Given the description of an element on the screen output the (x, y) to click on. 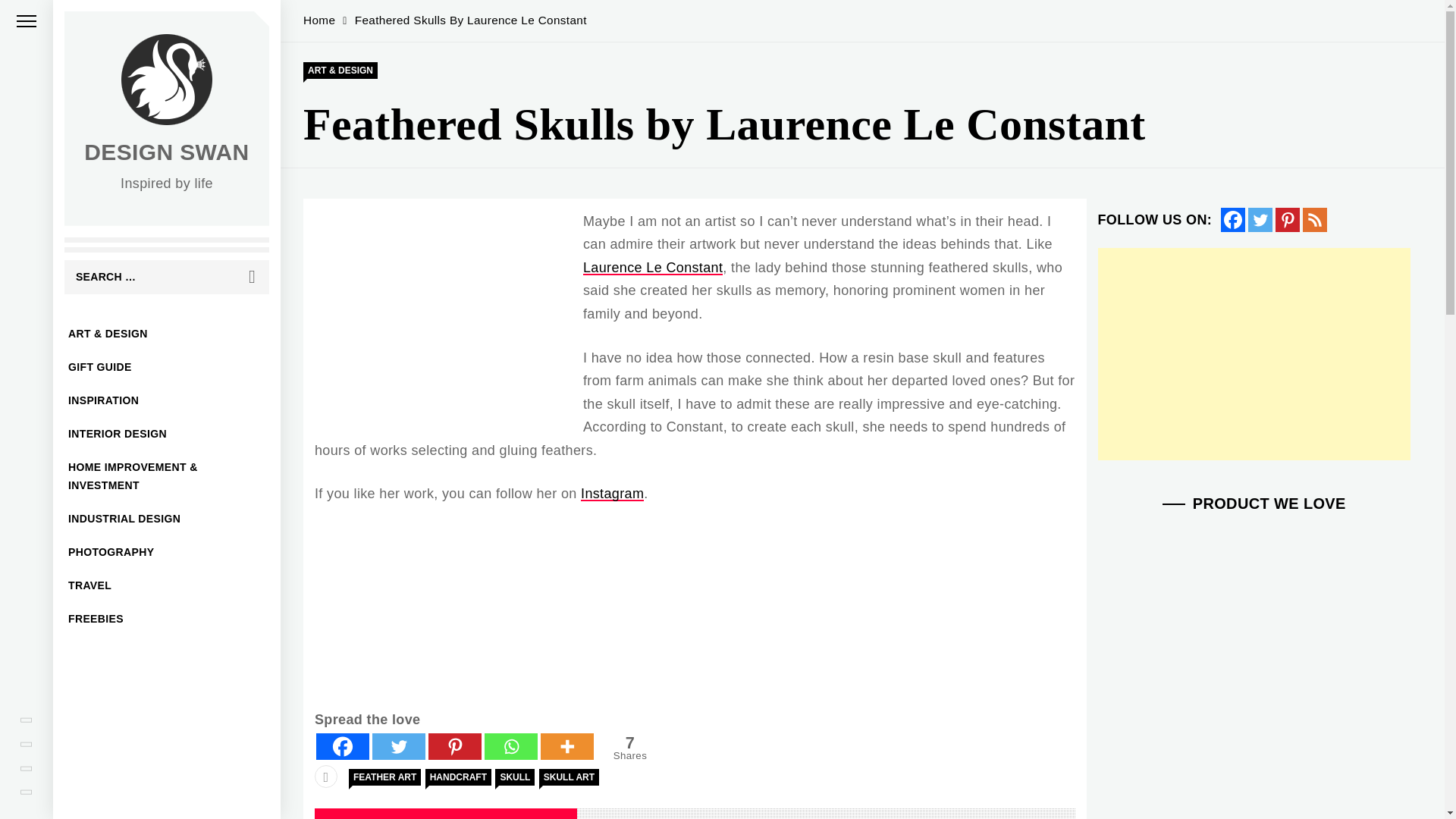
INSPIRATION (166, 400)
TRAVEL (166, 584)
Search (251, 277)
FREEBIES (166, 618)
HANDCRAFT (458, 777)
3rd party ad content (1254, 752)
INDUSTRIAL DESIGN (166, 518)
Total Shares (630, 747)
Search (251, 277)
Laurence Le Constant (652, 267)
Pinterest (1287, 219)
Home (318, 19)
GIFT GUIDE (166, 367)
Instagram (611, 493)
INTERIOR DESIGN (166, 433)
